Given the description of an element on the screen output the (x, y) to click on. 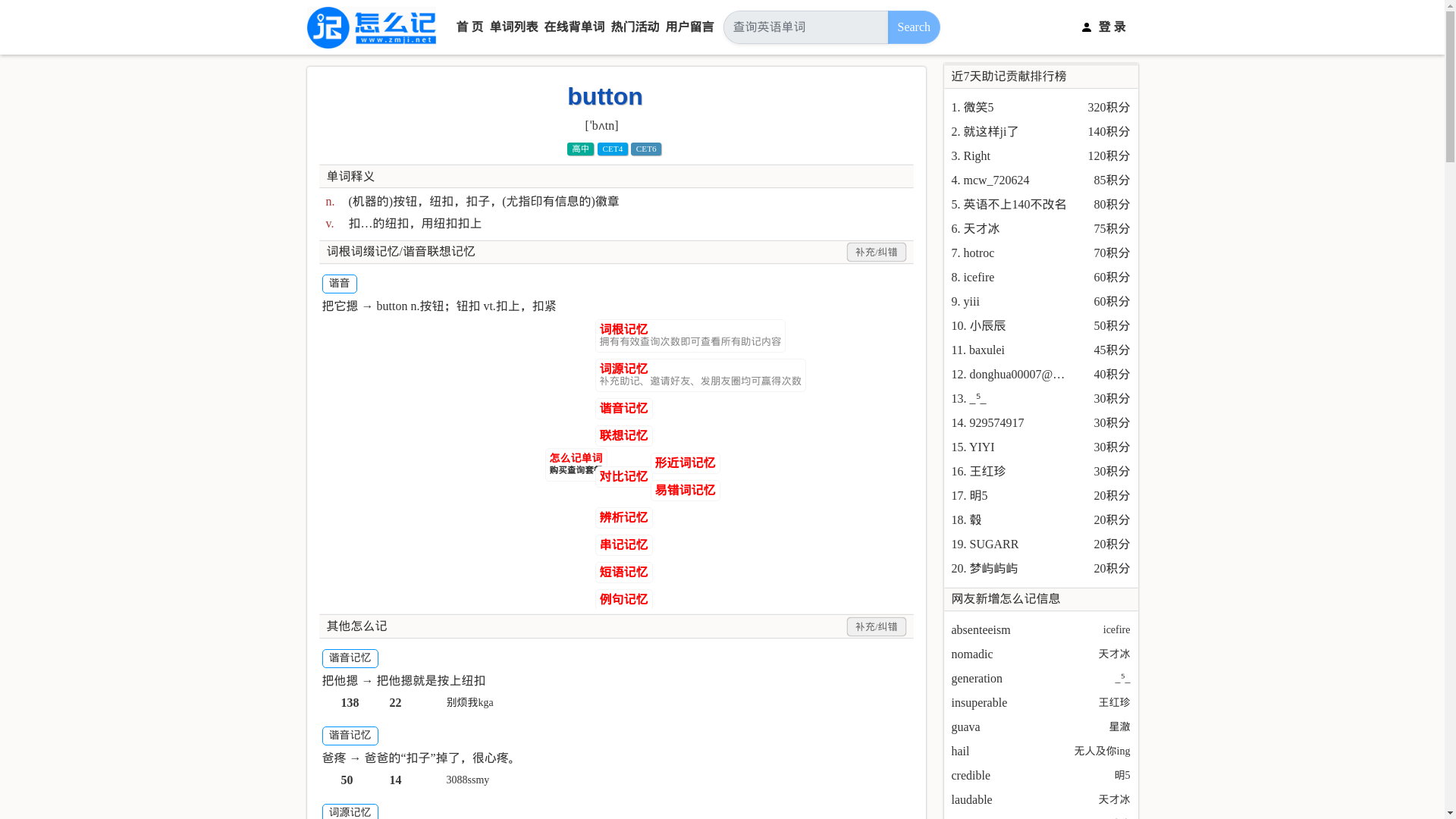
Search (913, 27)
